Given the description of an element on the screen output the (x, y) to click on. 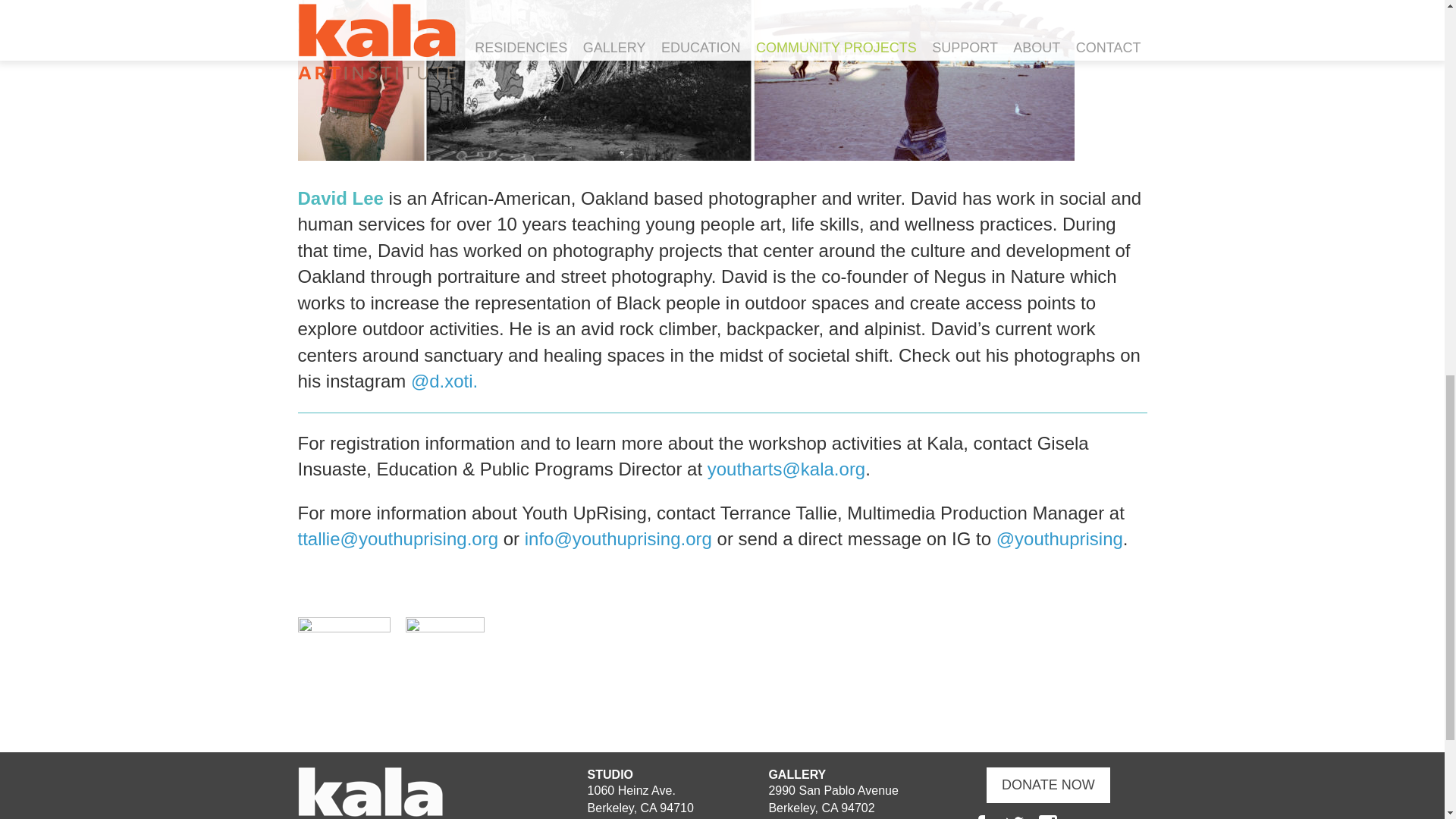
Twitter (1014, 816)
Facebook (980, 816)
Artsy (1081, 816)
Instagram (1048, 816)
Vimeo (1115, 816)
